Given the description of an element on the screen output the (x, y) to click on. 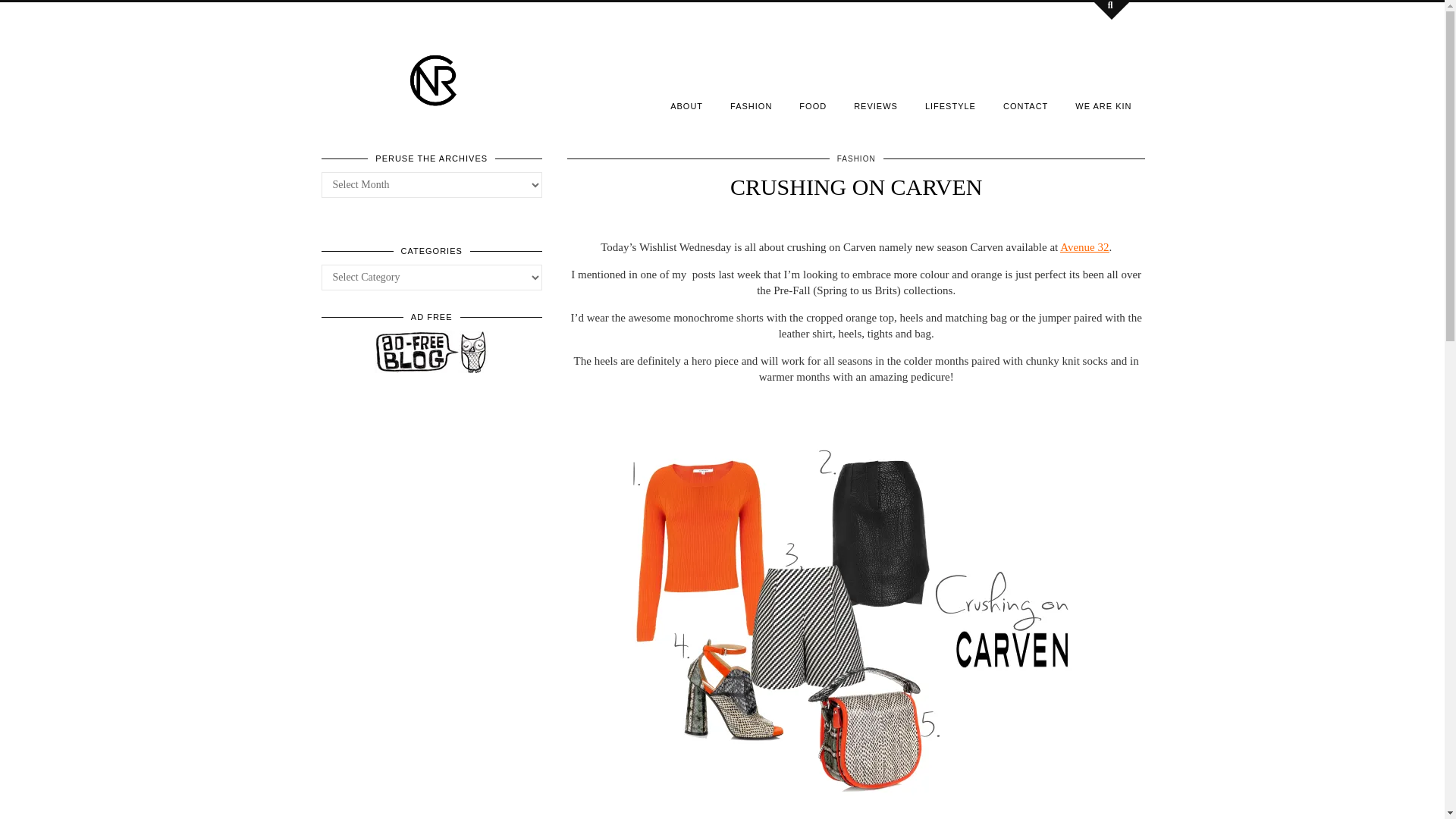
CONTACT (1025, 105)
REVIEWS (875, 105)
IAMNRC (433, 80)
WE ARE KIN (1102, 105)
LIFESTYLE (950, 105)
FASHION (751, 105)
ABOUT (686, 105)
FOOD (813, 105)
